Given the description of an element on the screen output the (x, y) to click on. 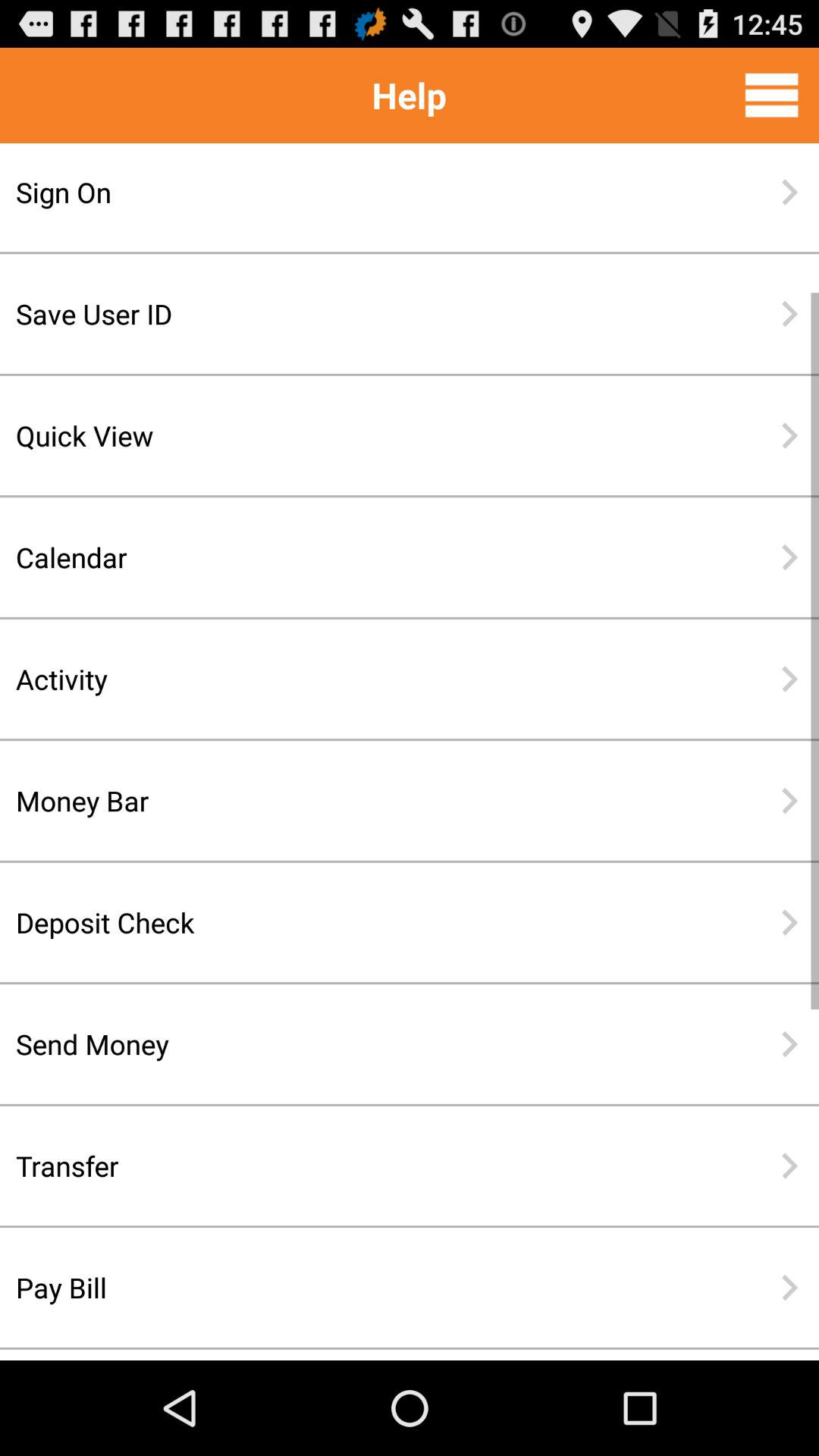
open the item below save user id icon (359, 435)
